Given the description of an element on the screen output the (x, y) to click on. 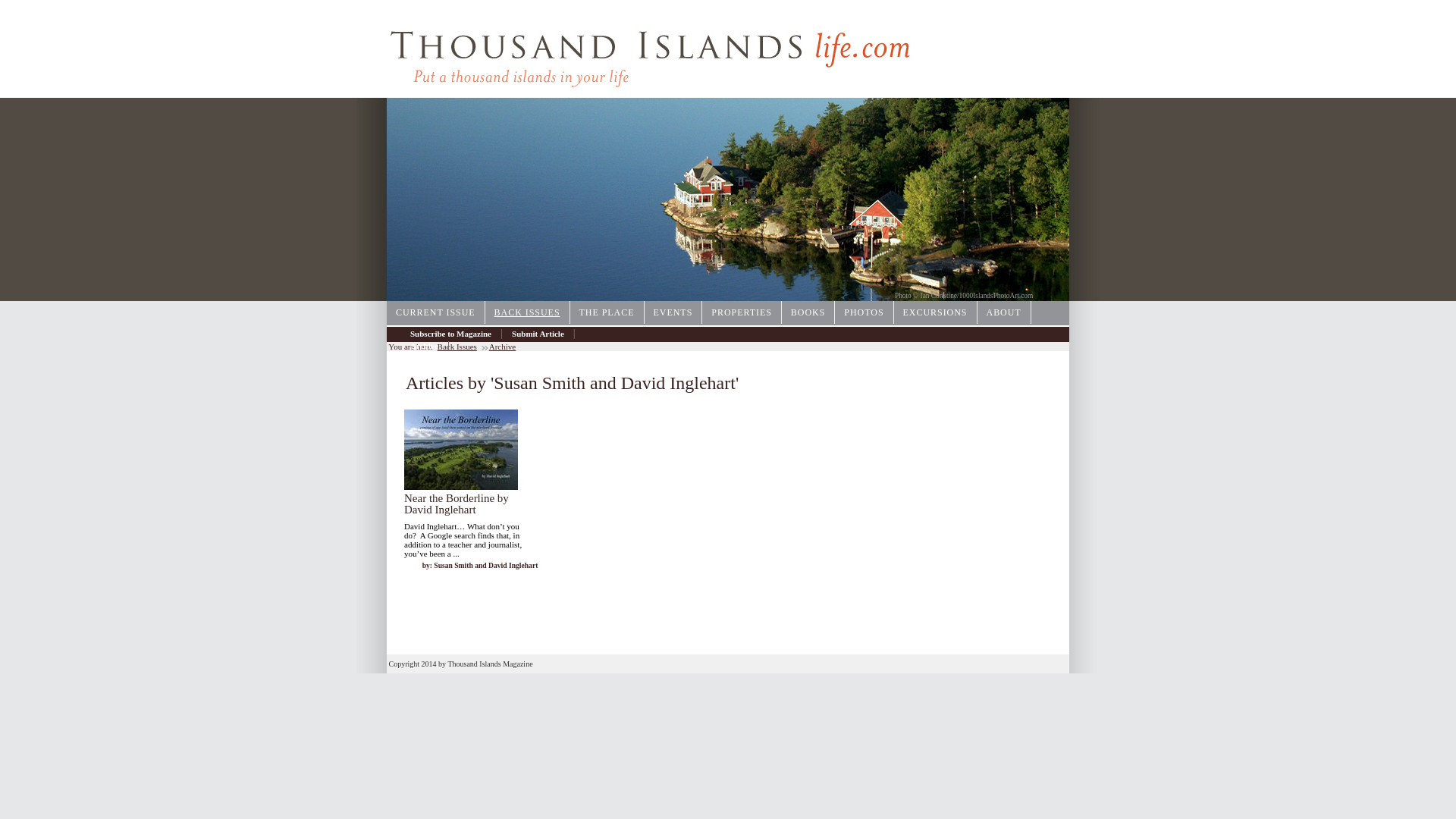
EXCURSIONS (934, 312)
Back Issues (457, 346)
1000IslandsPhotoArt.com (996, 295)
Submit Article (537, 333)
Near the Borderline by David Inglehart (456, 503)
Archive (502, 346)
THE PLACE (607, 312)
Subscribe to Magazine (451, 333)
Archive (424, 345)
PHOTOS (863, 312)
EVENTS (674, 312)
PROPERTIES (741, 312)
BACK ISSUES (527, 312)
BOOKS (807, 312)
CURRENT ISSUE (435, 312)
